Given the description of an element on the screen output the (x, y) to click on. 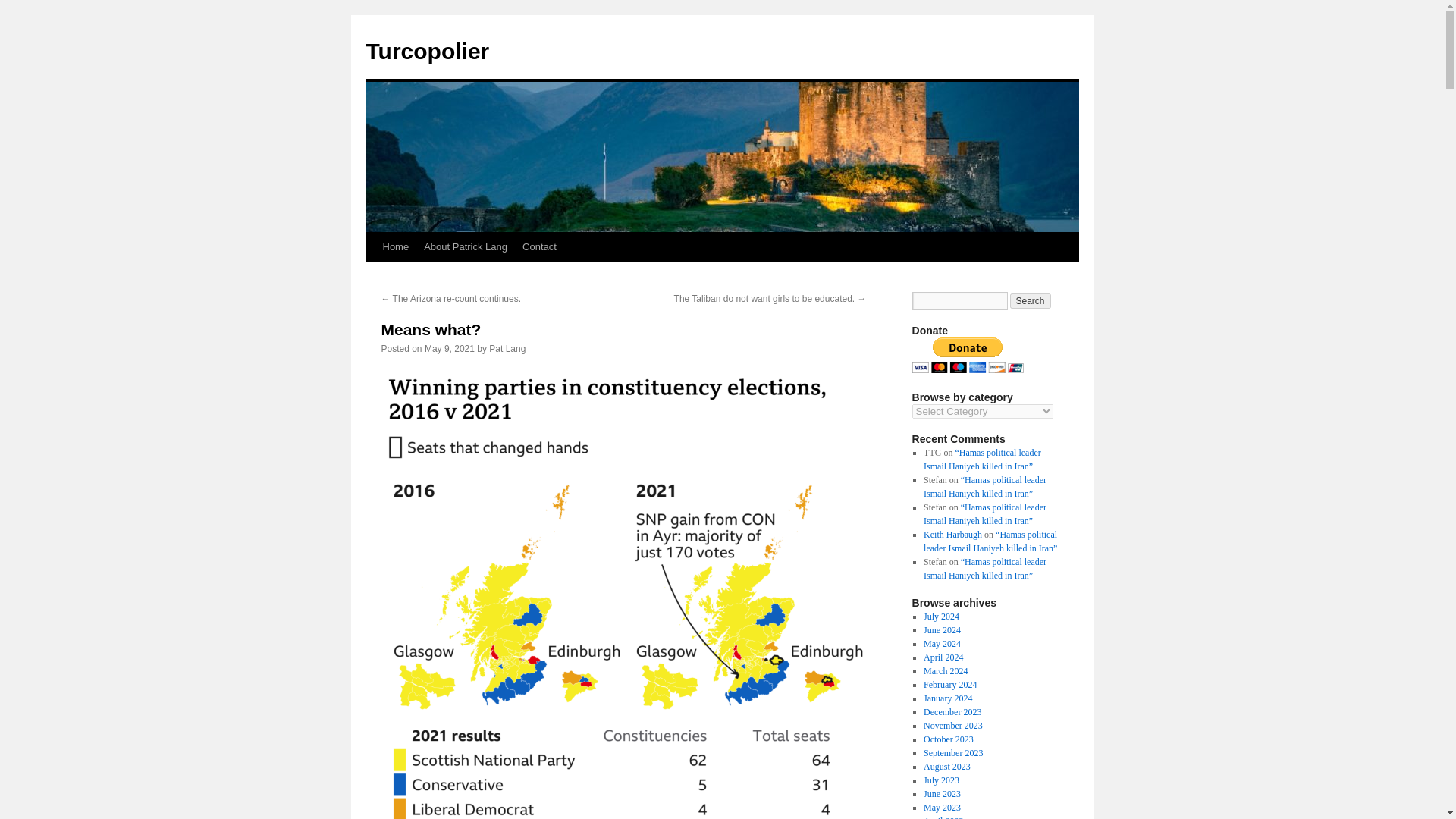
Search (1030, 300)
Contact (539, 246)
10:04 am (449, 348)
Turcopolier (427, 50)
Home (395, 246)
Pat Lang (507, 348)
About Patrick Lang (465, 246)
May 9, 2021 (449, 348)
Keith Harbaugh (952, 534)
Search (1030, 300)
View all posts by Pat Lang (507, 348)
